Given the description of an element on the screen output the (x, y) to click on. 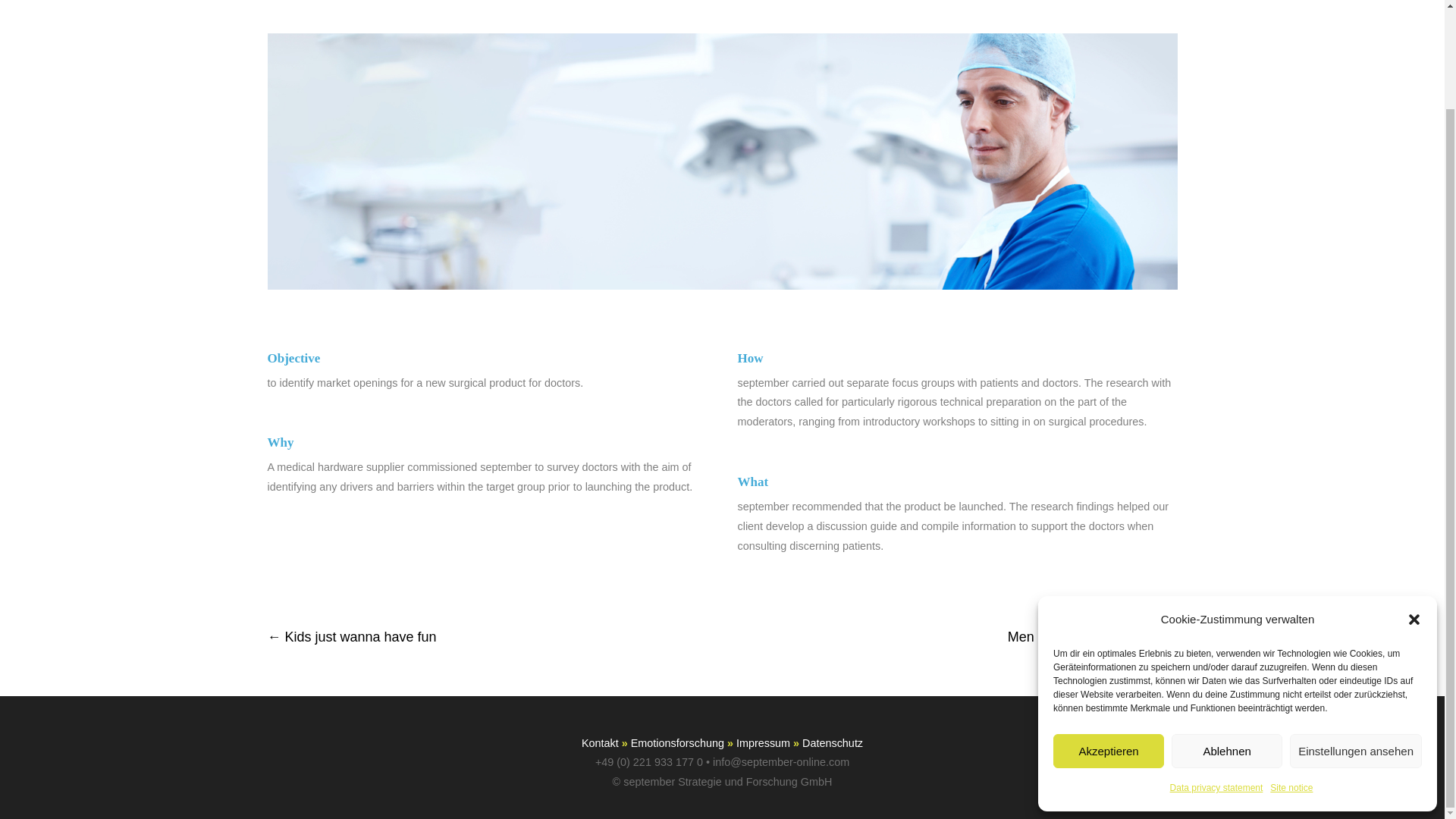
Ablehnen (1227, 636)
Akzeptieren (1107, 636)
Data privacy statement (1216, 672)
Site notice (1291, 672)
Einstellungen ansehen (1356, 636)
